Given the description of an element on the screen output the (x, y) to click on. 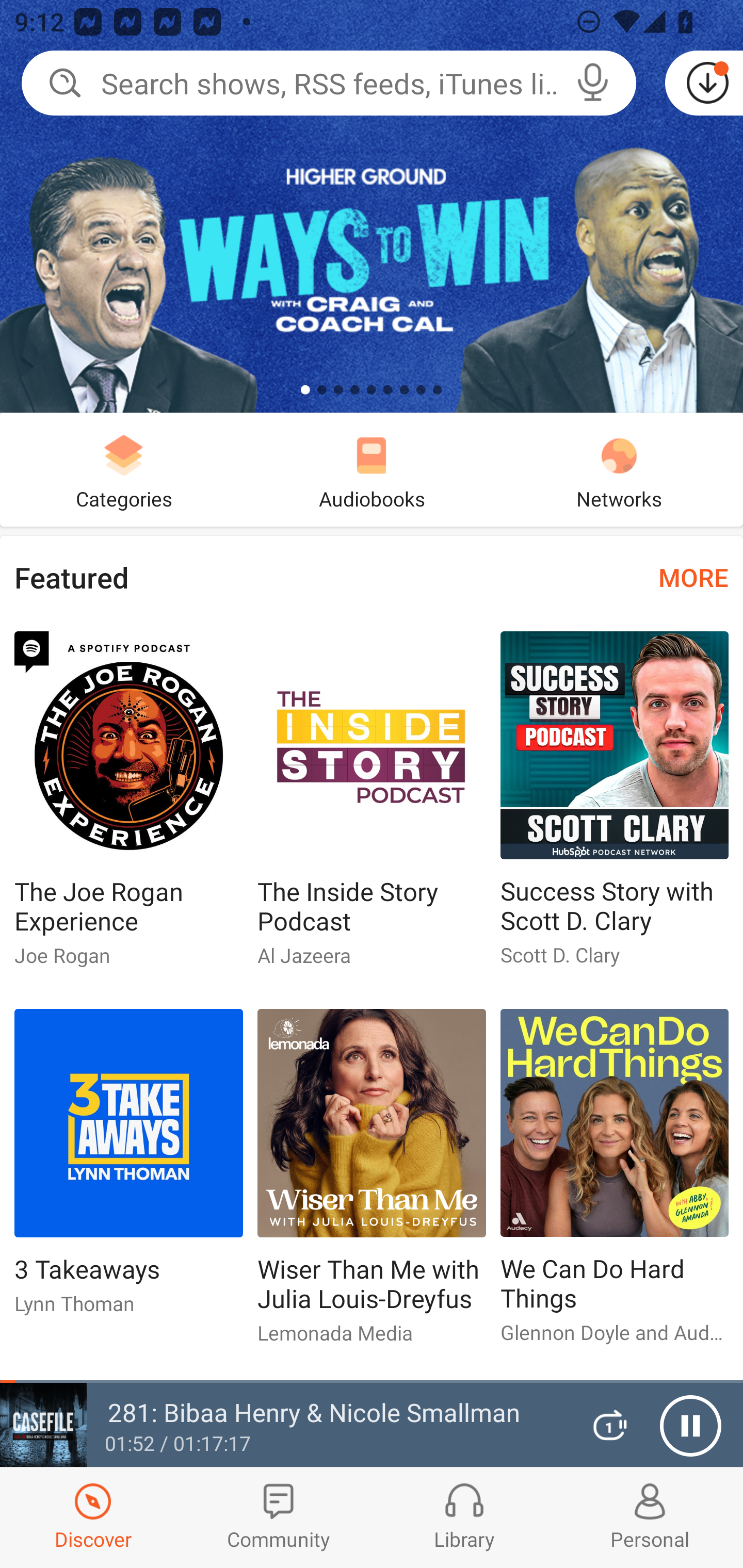
Ways To Win (371, 206)
Categories (123, 469)
Audiobooks (371, 469)
Networks (619, 469)
MORE (693, 576)
3 Takeaways 3 Takeaways Lynn Thoman (128, 1169)
Pause (690, 1425)
Discover (92, 1517)
Community (278, 1517)
Library (464, 1517)
Profiles and Settings Personal (650, 1517)
